Given the description of an element on the screen output the (x, y) to click on. 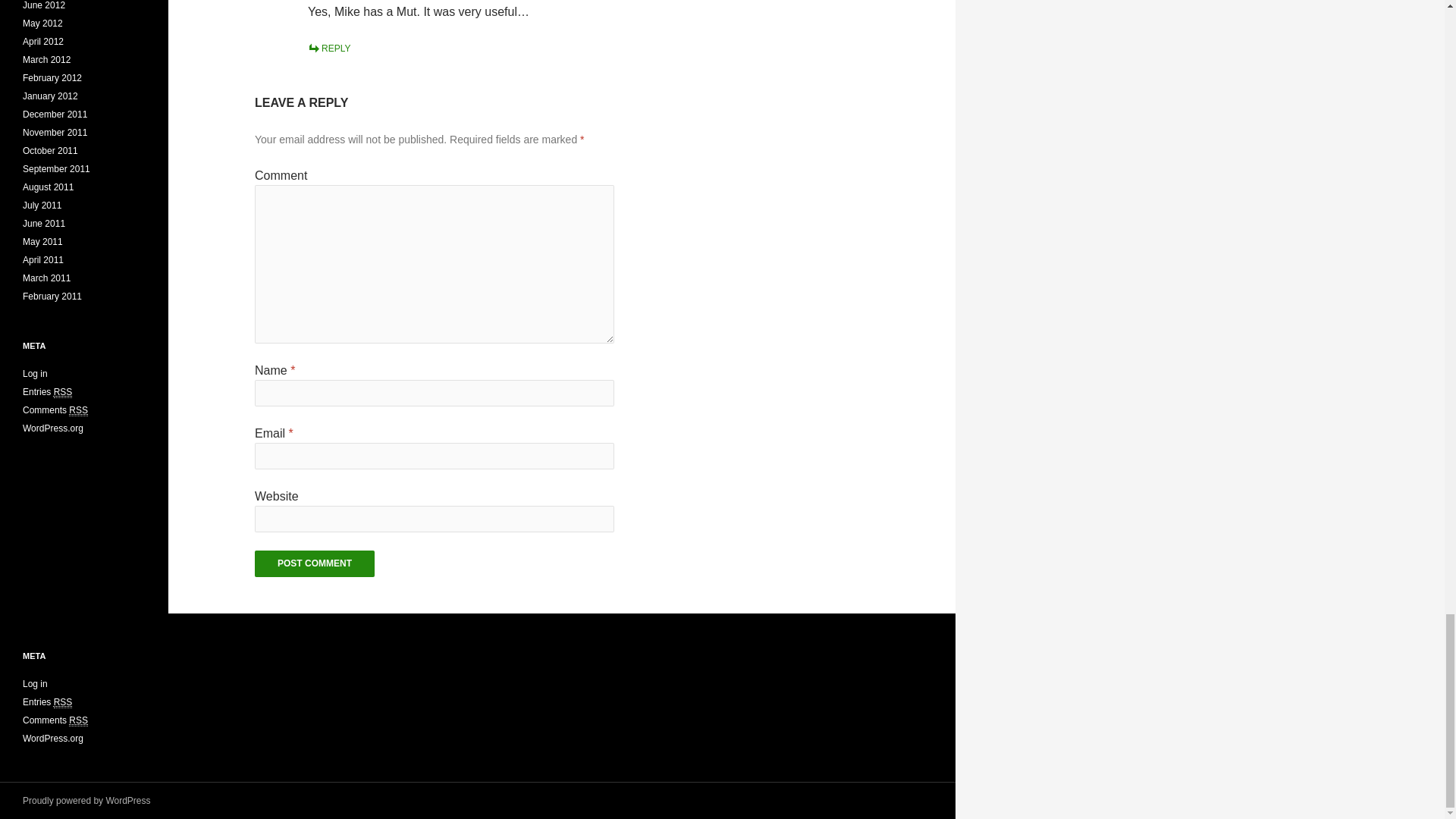
Post Comment (314, 563)
Really Simple Syndication (62, 702)
Really Simple Syndication (77, 410)
Really Simple Syndication (62, 392)
REPLY (328, 48)
Post Comment (314, 563)
Really Simple Syndication (77, 720)
